Given the description of an element on the screen output the (x, y) to click on. 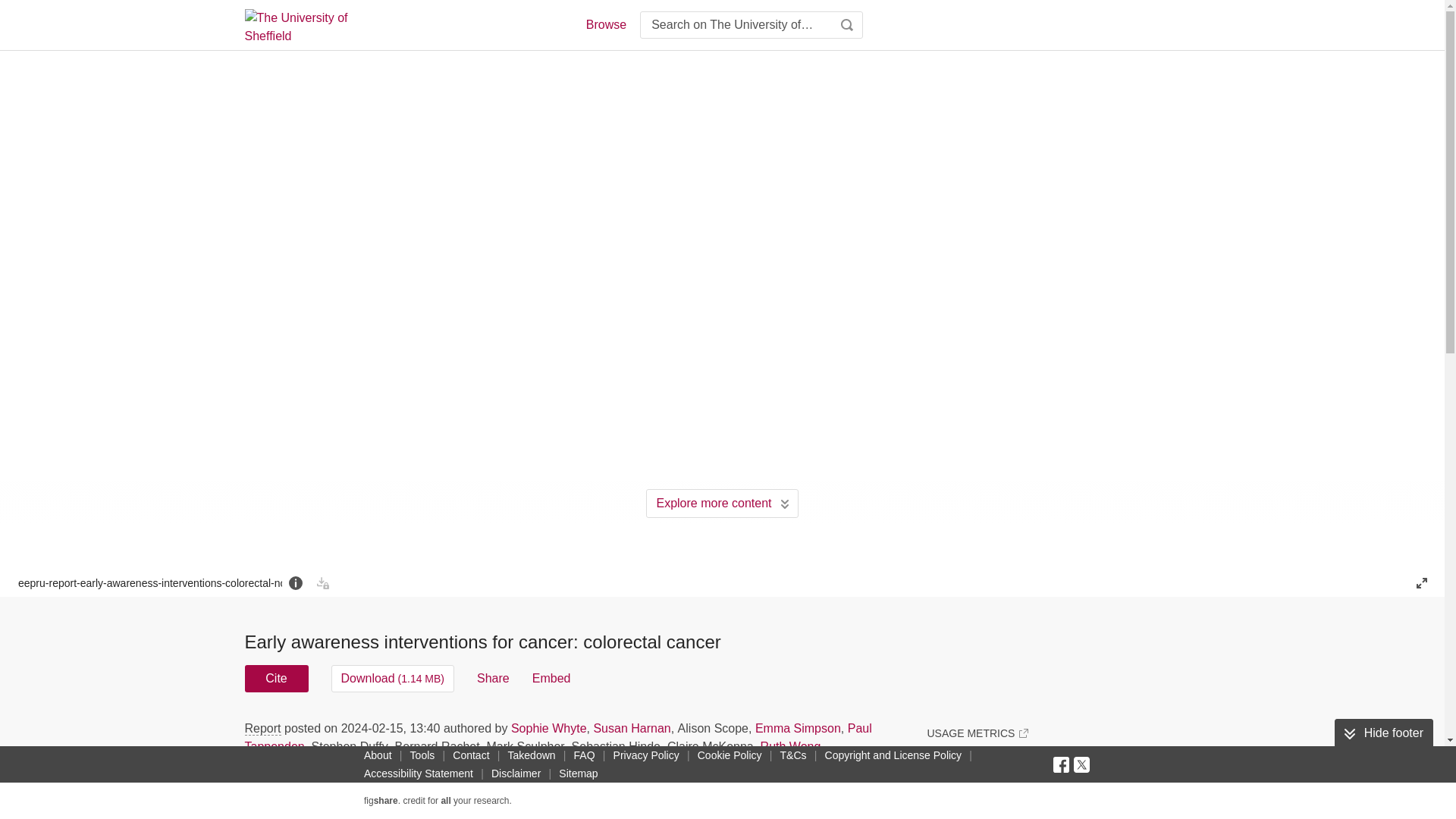
Emma Simpson (798, 727)
USAGE METRICS (976, 732)
Paul Tappenden (557, 736)
Susan Harnan (630, 727)
Contact (470, 755)
Tools (422, 755)
Browse (605, 24)
Explore more content (721, 502)
Share (493, 678)
Hide footer (1383, 733)
About (377, 755)
Cite (275, 678)
Sophie Whyte (548, 727)
Ruth Wong (790, 746)
